Given the description of an element on the screen output the (x, y) to click on. 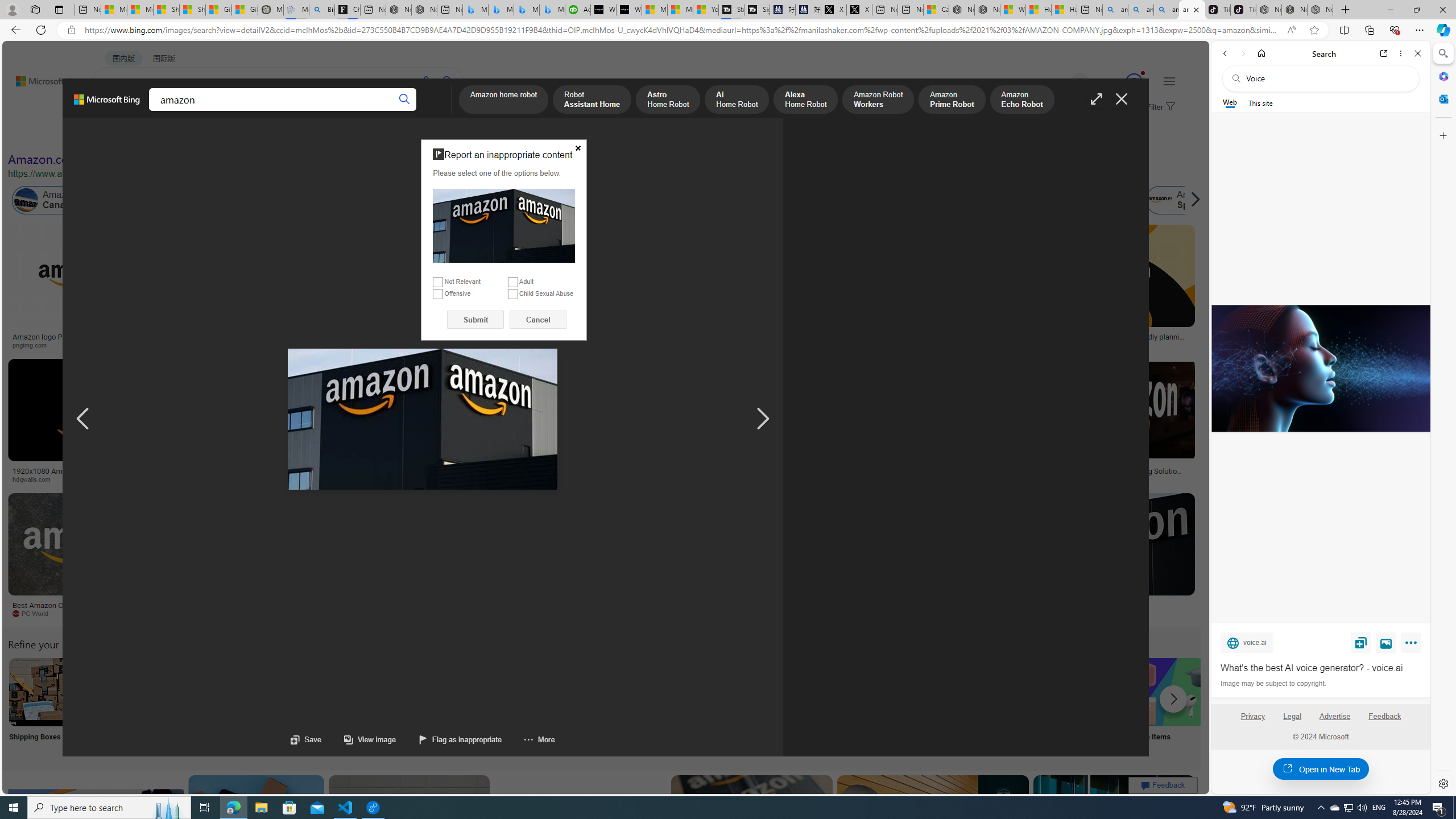
logopng.com.br (764, 344)
Amazon.com.au (923, 199)
The Verge (237, 613)
Amazon Online Shopping Homepage Online Shopping Homepage (868, 706)
Amazon Forest (999, 200)
Online Store (644, 706)
